Given the description of an element on the screen output the (x, y) to click on. 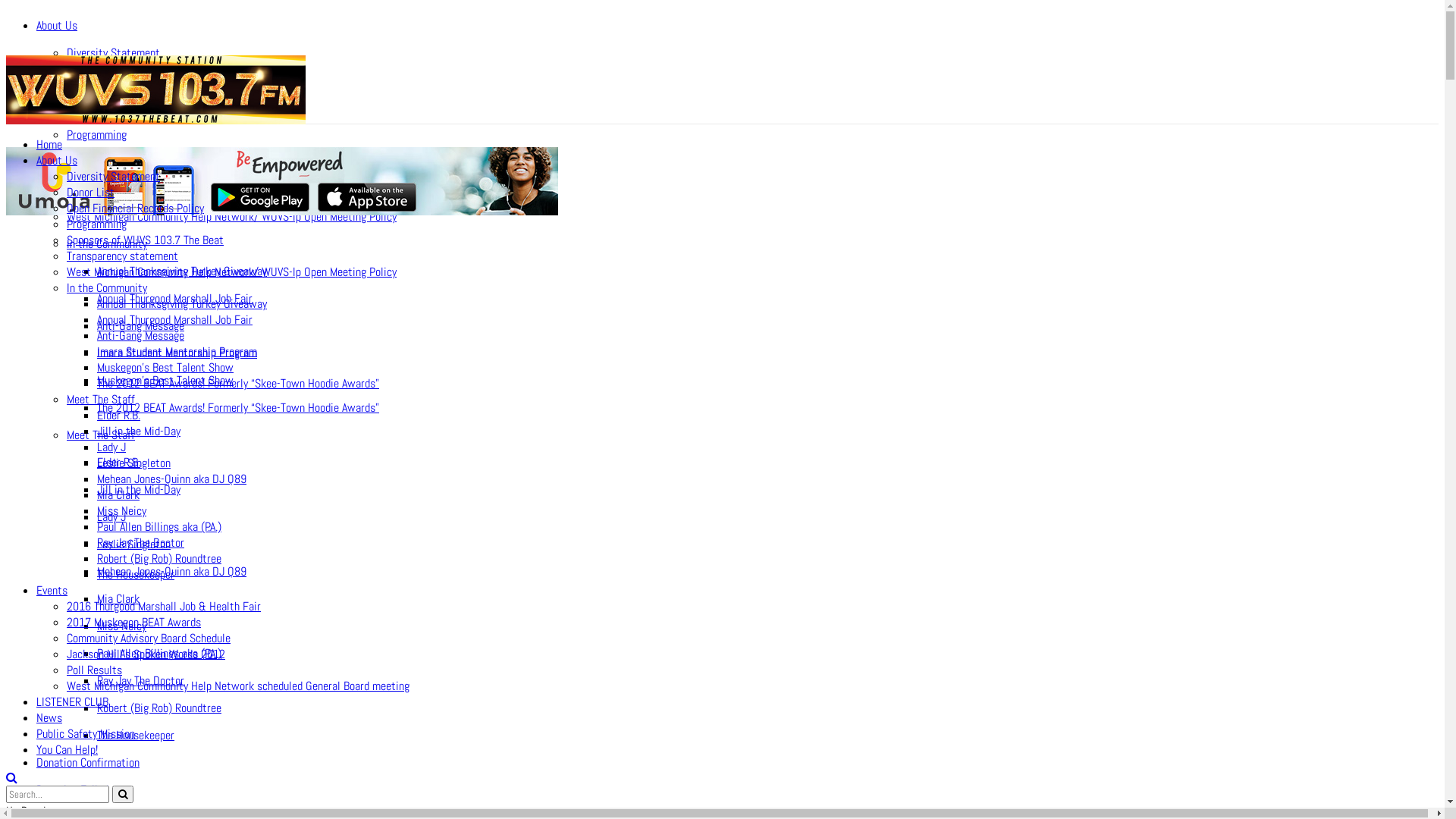
Mia Clark Element type: text (118, 494)
Lady J Element type: text (111, 447)
The Housekeeper Element type: text (135, 735)
Annual Thanksgiving Turkey Giveaway Element type: text (181, 303)
Elder R.B. Element type: text (118, 462)
Paul Allen Billings aka (P.A.) Element type: text (159, 526)
2016 Thurgood Marshall Job & Health Fair Element type: text (163, 606)
Donor List Element type: text (90, 79)
Mia Clark Element type: text (118, 598)
You Can Help! Element type: text (66, 749)
Events Element type: text (51, 590)
Annual Thurgood Marshall Job Fair Element type: text (174, 319)
Jill in the Mid-Day Element type: text (138, 489)
Programming Element type: text (96, 224)
Anti-Gang Message Element type: text (140, 325)
Meet The Staff Element type: text (100, 399)
Open Financial Records Policy Element type: text (134, 107)
Leslie Singleton Element type: text (133, 462)
Imara Student Mentorship Program Element type: text (177, 352)
Donor List Element type: text (90, 192)
Public Safety Mission Element type: text (85, 733)
Imara Student Mentorship Program Element type: text (177, 351)
Transparency statement Element type: text (122, 255)
Miss Neicy Element type: text (121, 625)
Home Element type: text (49, 144)
Diversity Statement Element type: text (113, 176)
Mehean Jones-Quinn aka DJ Q89 Element type: text (171, 571)
Donation Confirmation Element type: text (87, 762)
Ray Jay The Doctor Element type: text (140, 680)
Ray Jay The Doctor Element type: text (140, 542)
About Us Element type: text (56, 160)
Anti-Gang Message Element type: text (140, 335)
Mehean Jones-Quinn aka DJ Q89 Element type: text (171, 478)
Leslie Singleton Element type: text (133, 544)
Programming Element type: text (96, 134)
Robert (Big Rob) Roundtree Element type: text (159, 558)
Elder R.B. Element type: text (118, 415)
Sponsors of WUVS 103.7 The Beat Element type: text (144, 239)
Miss Neicy Element type: text (121, 510)
Open Financial Records Policy Element type: text (134, 208)
Paul Allen Billings aka (P.A.) Element type: text (159, 653)
Transparency statement Element type: text (122, 189)
Donation Failed Element type: text (72, 789)
LISTENER CLUB Element type: text (72, 701)
2017 Muskegon BEAT Awards Element type: text (133, 622)
Poll Results Element type: text (94, 669)
Meet The Staff Element type: text (100, 434)
Annual Thanksgiving Turkey Giveaway Element type: text (181, 271)
Jill in the Mid-Day Element type: text (138, 431)
Sponsors of WUVS 103.7 The Beat Element type: text (144, 161)
In the Community Element type: text (106, 243)
Diversity Statement Element type: text (113, 52)
The Housekeeper Element type: text (135, 574)
News Element type: text (49, 717)
Annual Thurgood Marshall Job Fair Element type: text (174, 298)
About Us Element type: text (56, 25)
Robert (Big Rob) Roundtree Element type: text (159, 707)
Lady J Element type: text (111, 516)
Community Advisory Board Schedule Element type: text (148, 638)
In the Community Element type: text (106, 287)
